Given the description of an element on the screen output the (x, y) to click on. 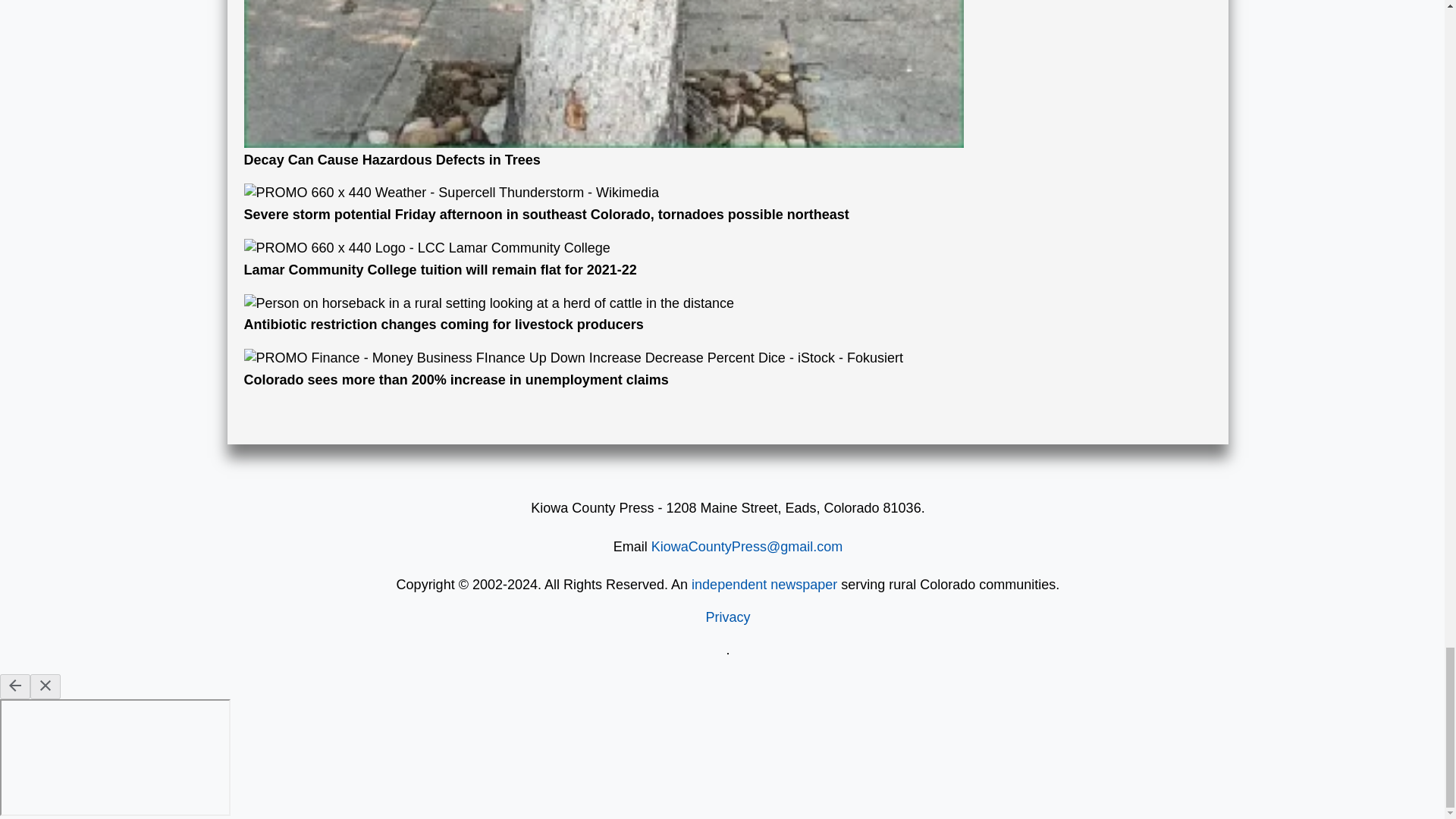
independent newspaper (764, 584)
Decay Can Cause Hazardous Defects in Trees (603, 84)
Privacy (726, 616)
Lamar Community College tuition will remain flat for 2021-22 (603, 259)
